Given the description of an element on the screen output the (x, y) to click on. 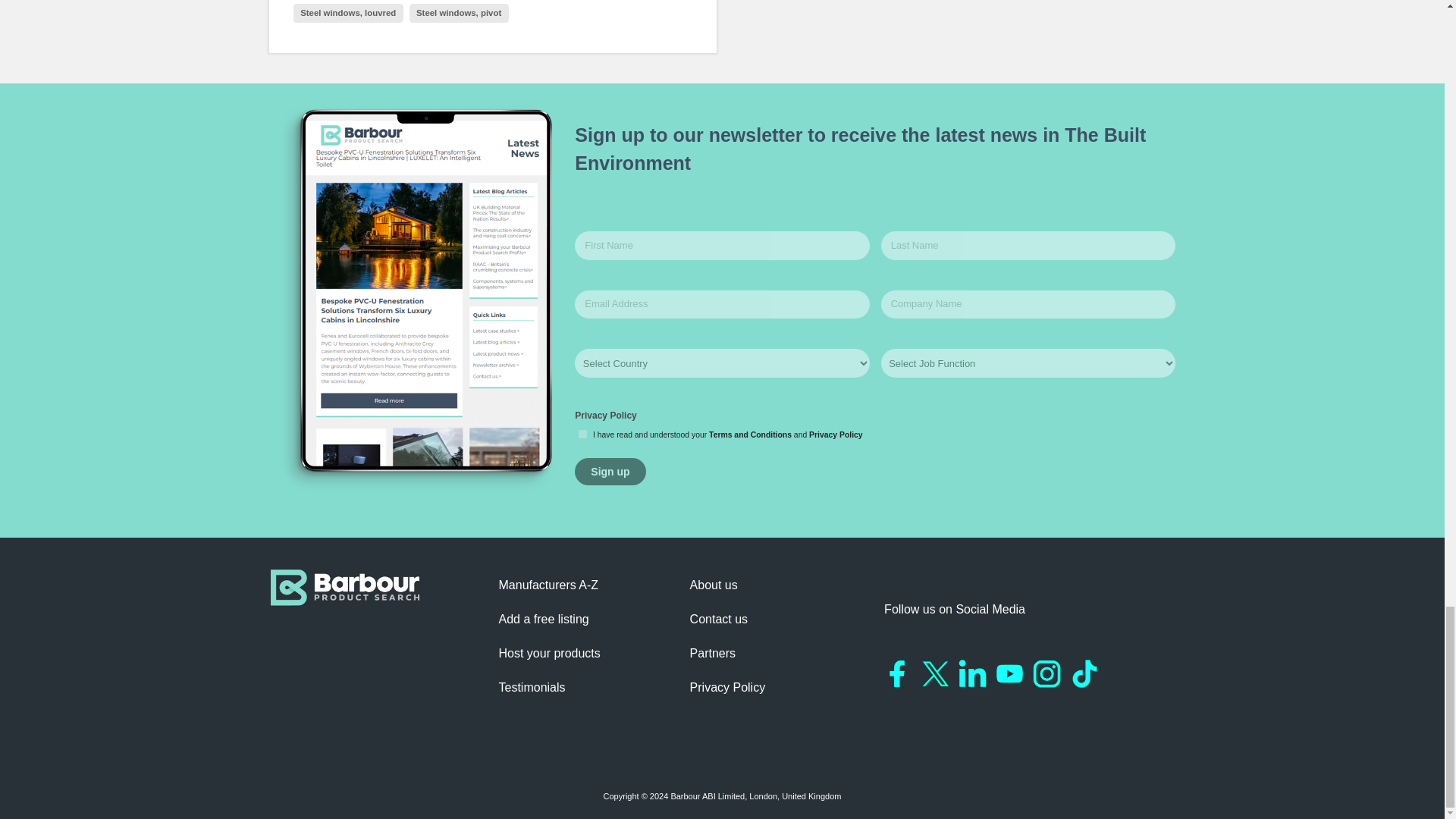
Sign up (610, 471)
